Given the description of an element on the screen output the (x, y) to click on. 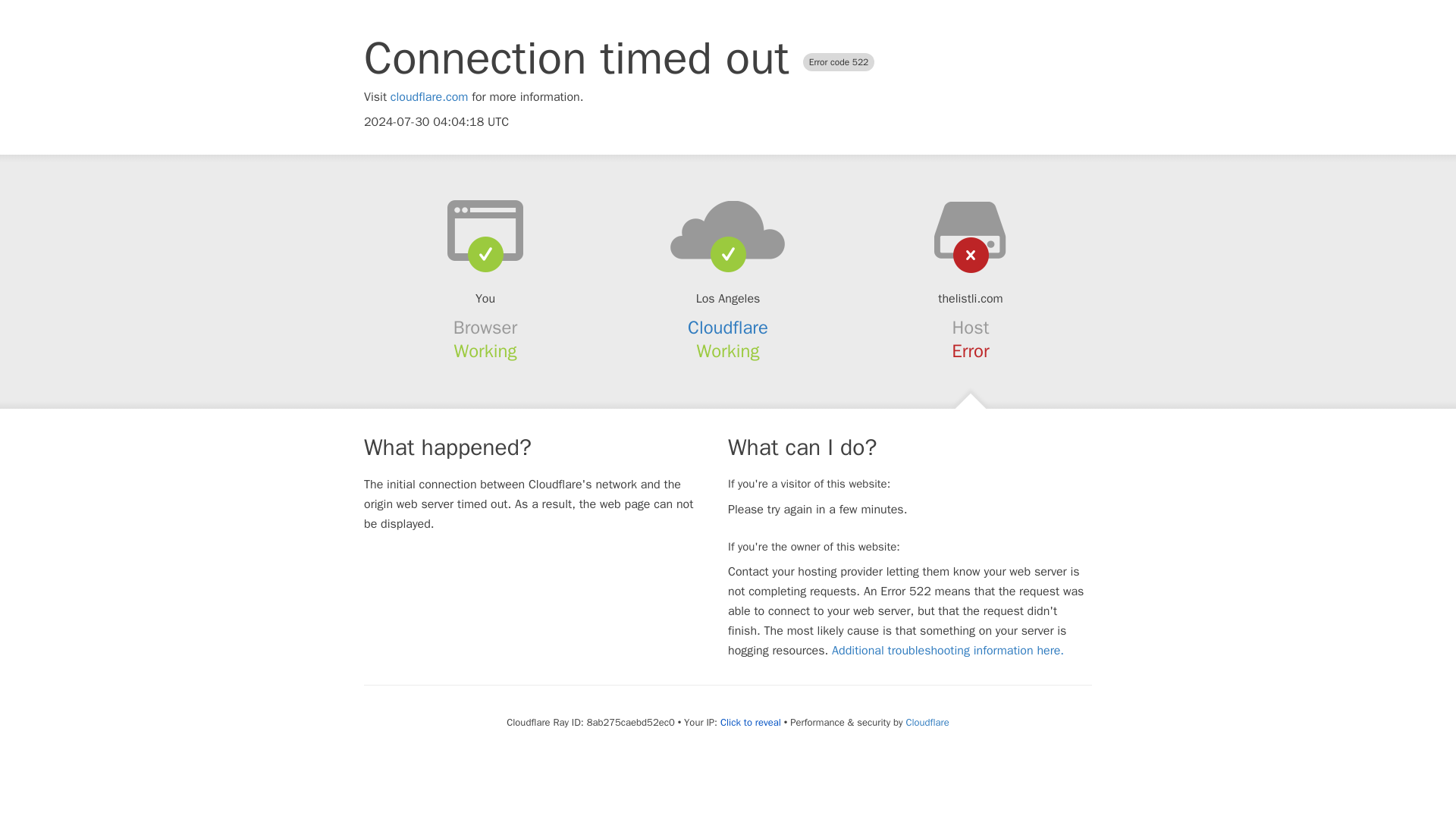
Cloudflare (927, 721)
Cloudflare (727, 327)
cloudflare.com (429, 96)
Click to reveal (750, 722)
Additional troubleshooting information here. (947, 650)
